Given the description of an element on the screen output the (x, y) to click on. 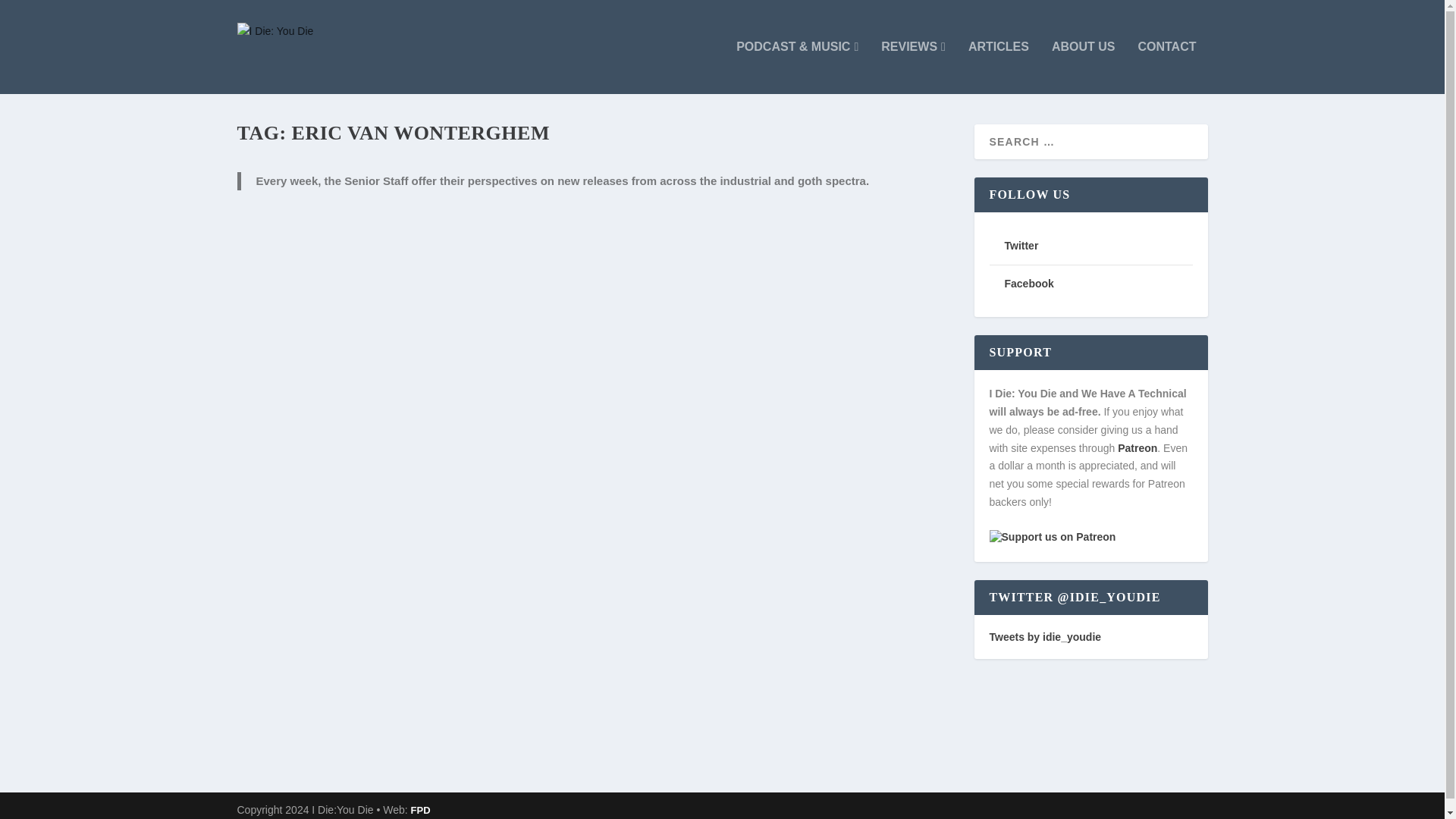
CONTACT (1166, 67)
FPD (420, 809)
Facebook (1028, 283)
Search (31, 13)
REVIEWS (912, 67)
ABOUT US (1083, 67)
Patreon (1137, 448)
ARTICLES (998, 67)
Twitter (1021, 245)
